Given the description of an element on the screen output the (x, y) to click on. 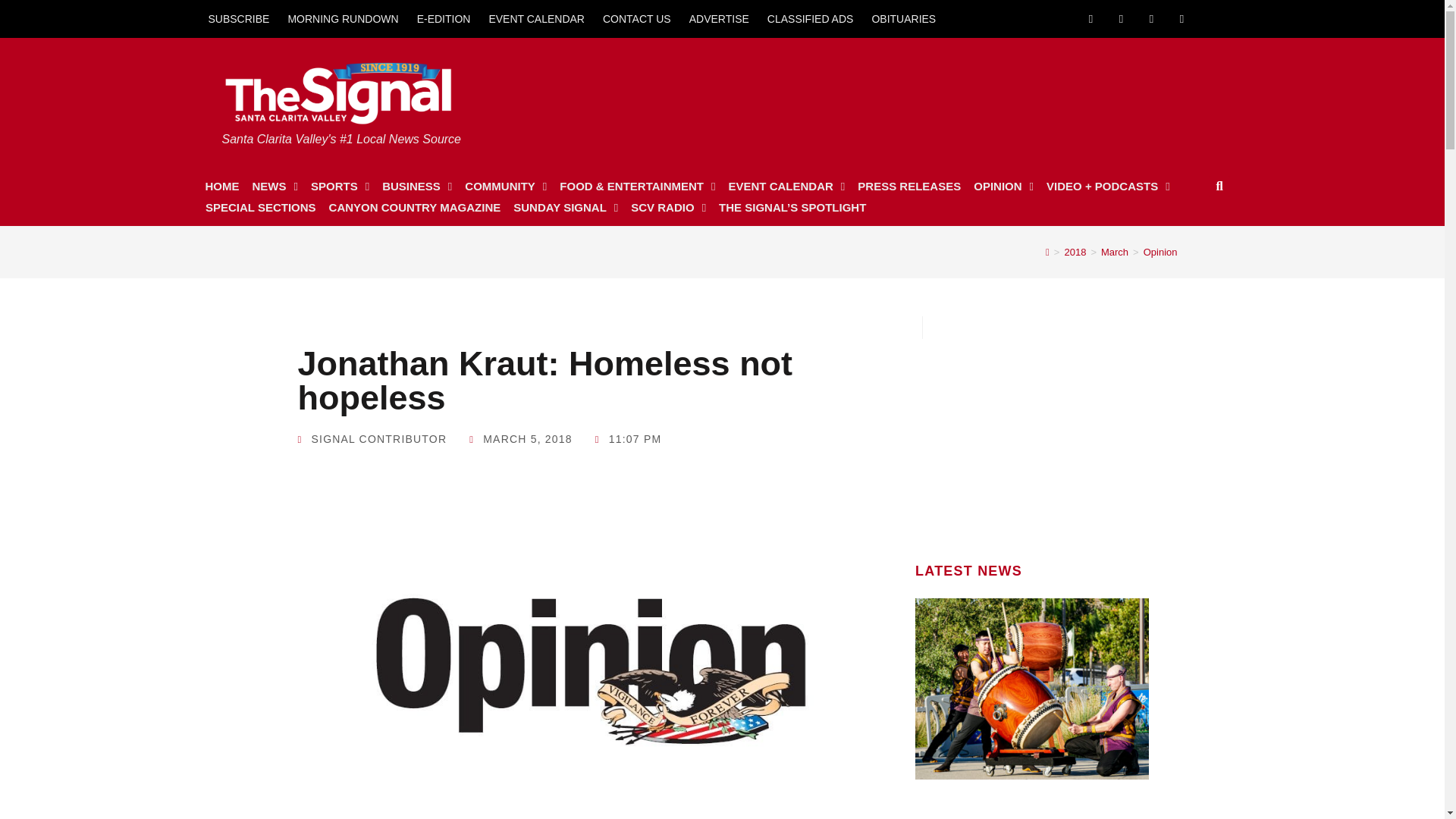
3rd party ad content (1031, 433)
SPORTS (339, 186)
NEWS (274, 186)
CLASSIFIED ADS (810, 18)
CONTACT US (636, 18)
ADVERTISE (718, 18)
EVENT CALENDAR (536, 18)
OBITUARIES (902, 18)
3rd party ad content (932, 94)
E-EDITION (443, 18)
